Given the description of an element on the screen output the (x, y) to click on. 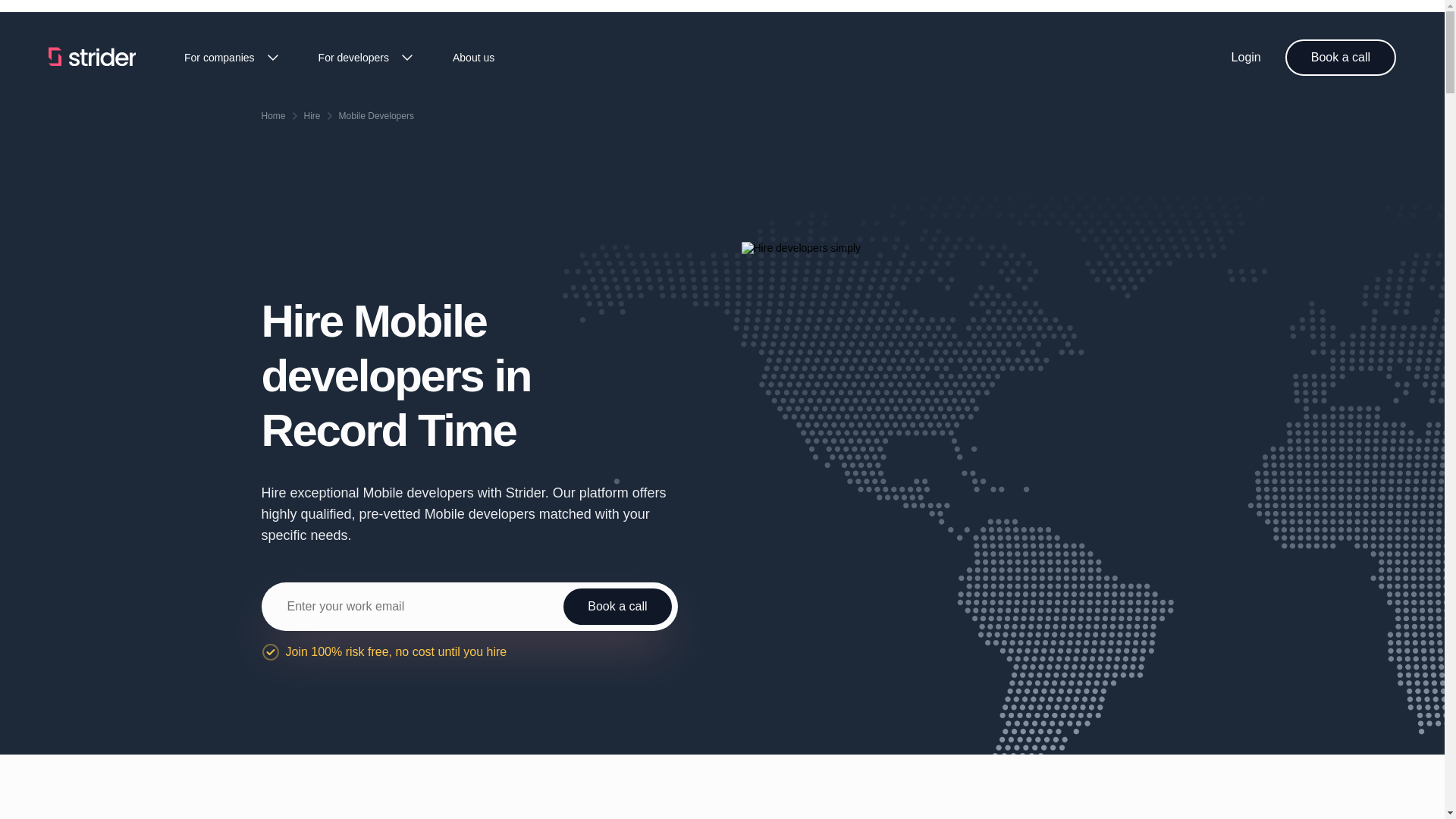
For companies (233, 57)
